Given the description of an element on the screen output the (x, y) to click on. 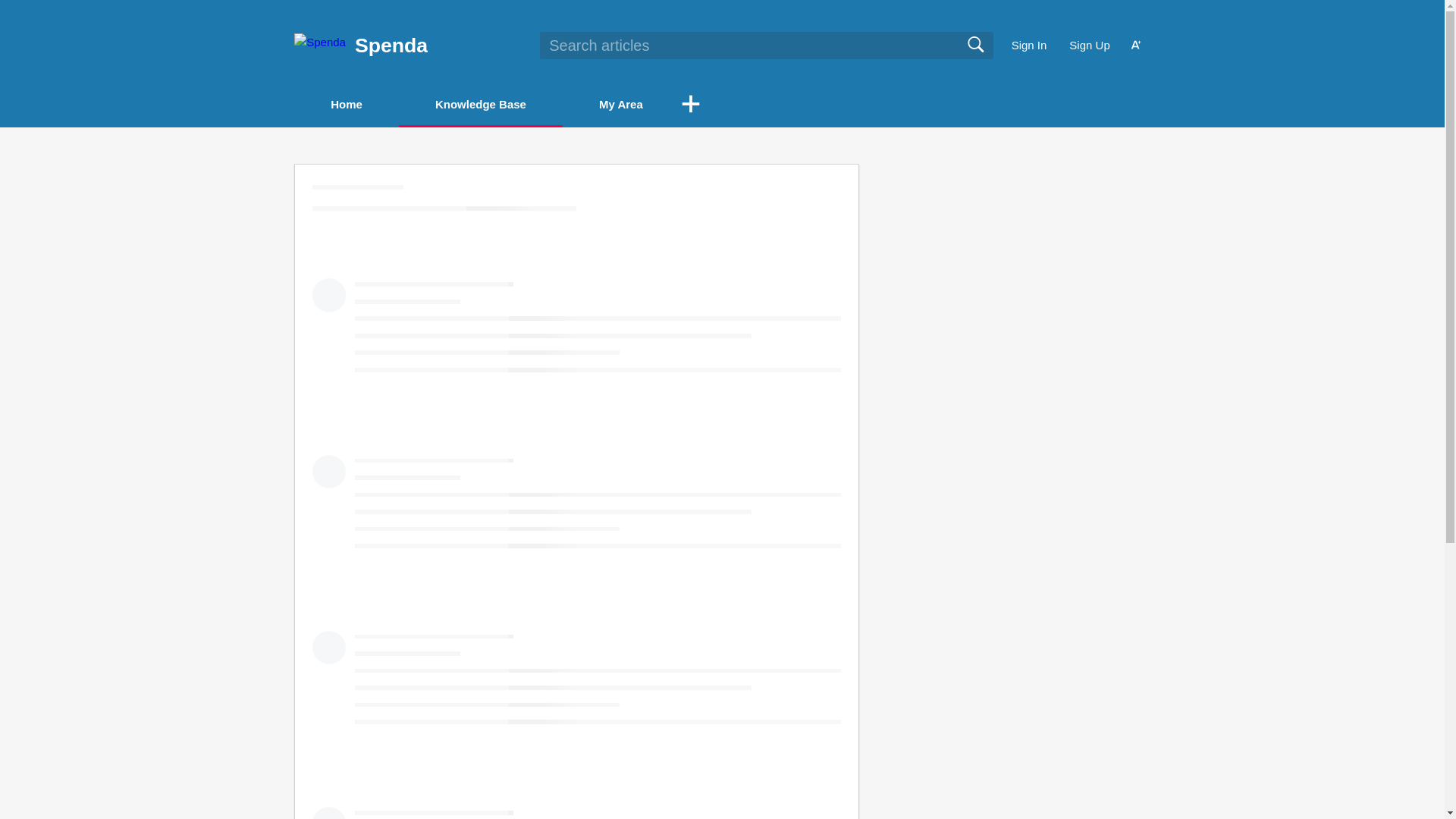
Search (975, 44)
Sign Up (1088, 45)
Home (346, 104)
Knowledge Base (480, 103)
Sign In (1028, 45)
Home (346, 103)
Spenda (391, 45)
My Area (620, 104)
My Area (620, 103)
Knowledge Base (480, 104)
